Given the description of an element on the screen output the (x, y) to click on. 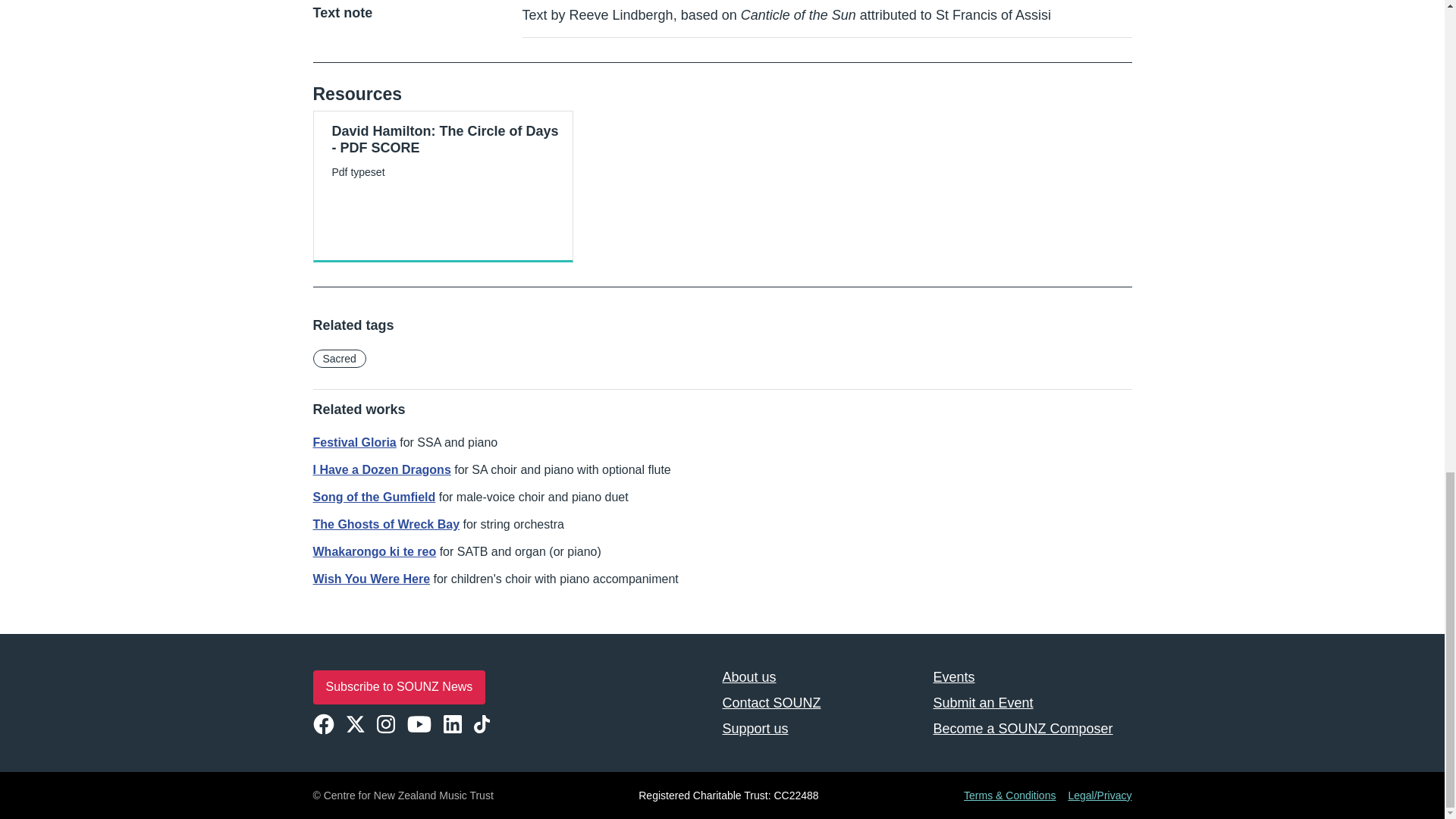
Festival Gloria (354, 441)
Subscribe to SOUNZ News (398, 687)
Song of the Gumfield (374, 496)
I Have a Dozen Dragons (381, 469)
The Ghosts of Wreck Bay (386, 523)
Wish You Were Here (371, 578)
Whakarongo ki te reo (374, 551)
Sacred (339, 358)
